Given the description of an element on the screen output the (x, y) to click on. 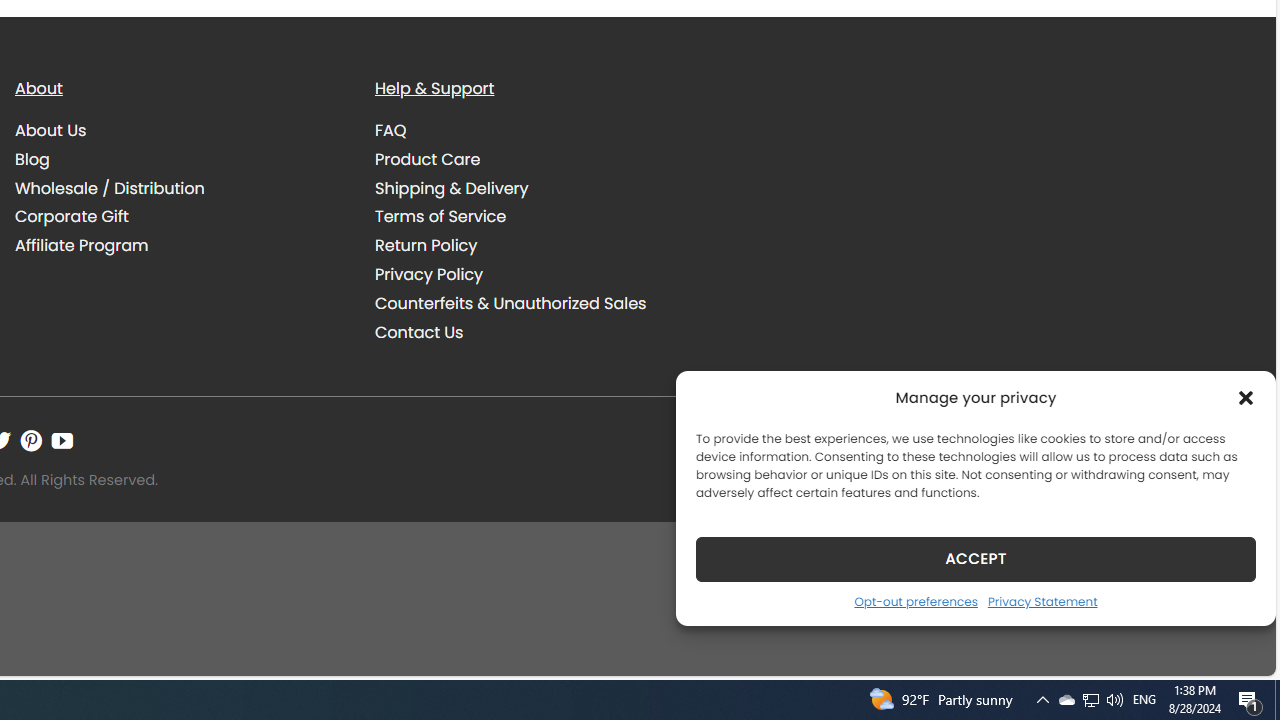
Wholesale / Distribution (109, 187)
About Us (180, 131)
Privacy Statement (1042, 601)
Product Care (428, 158)
Contact Us (540, 332)
Shipping & Delivery (451, 187)
Corporate Gift (72, 216)
Opt-out preferences (915, 601)
Contact Us (419, 331)
Counterfeits & Unauthorized Sales (540, 303)
FAQ (540, 131)
Follow on Pinterest (31, 440)
Product Care (540, 159)
Go to top (1234, 647)
Wholesale / Distribution (180, 188)
